Given the description of an element on the screen output the (x, y) to click on. 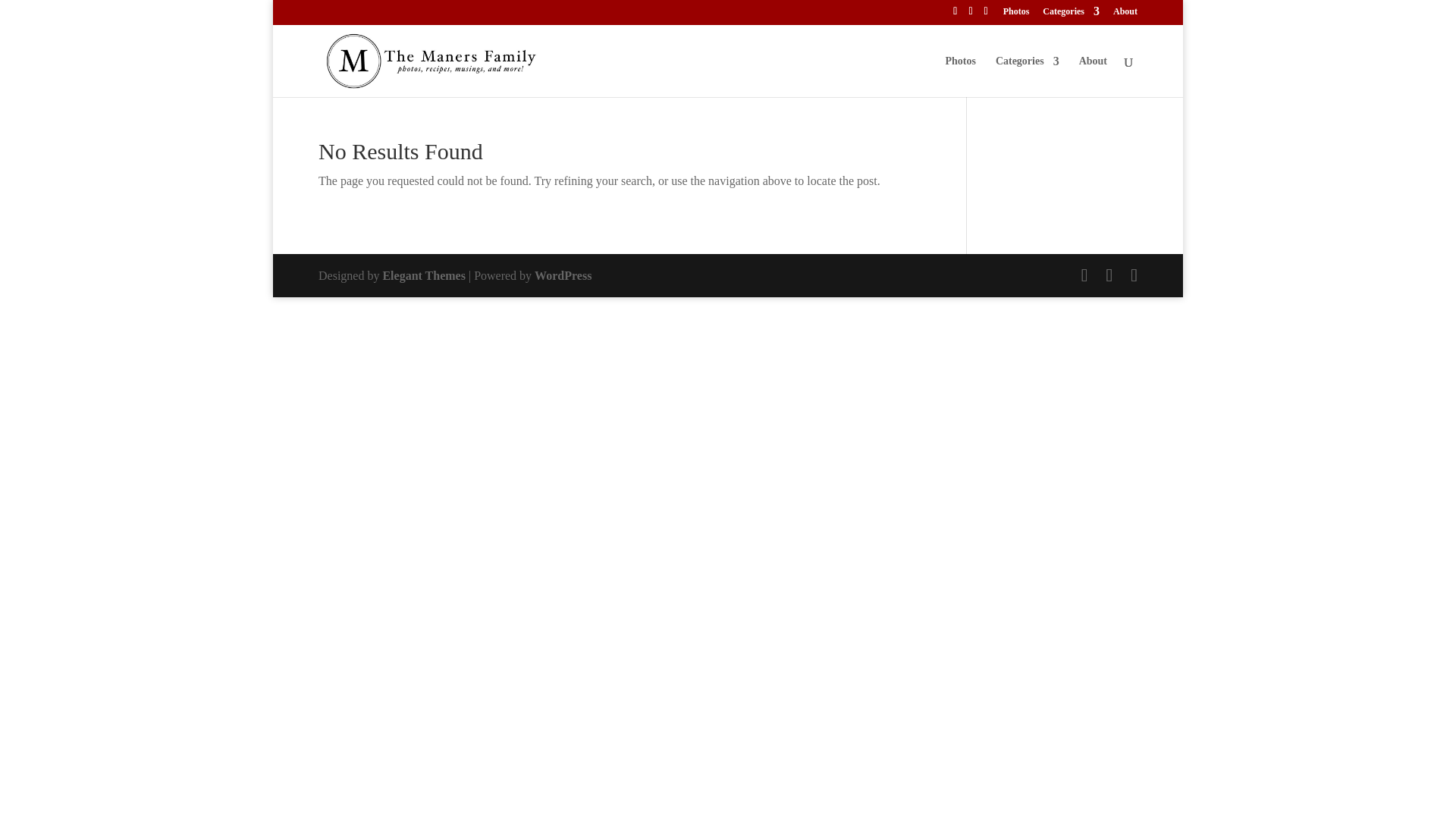
Photos (1016, 14)
Categories (1027, 76)
WordPress (562, 275)
Elegant Themes (422, 275)
Premium WordPress Themes (422, 275)
Categories (1070, 14)
About (1125, 14)
